Given the description of an element on the screen output the (x, y) to click on. 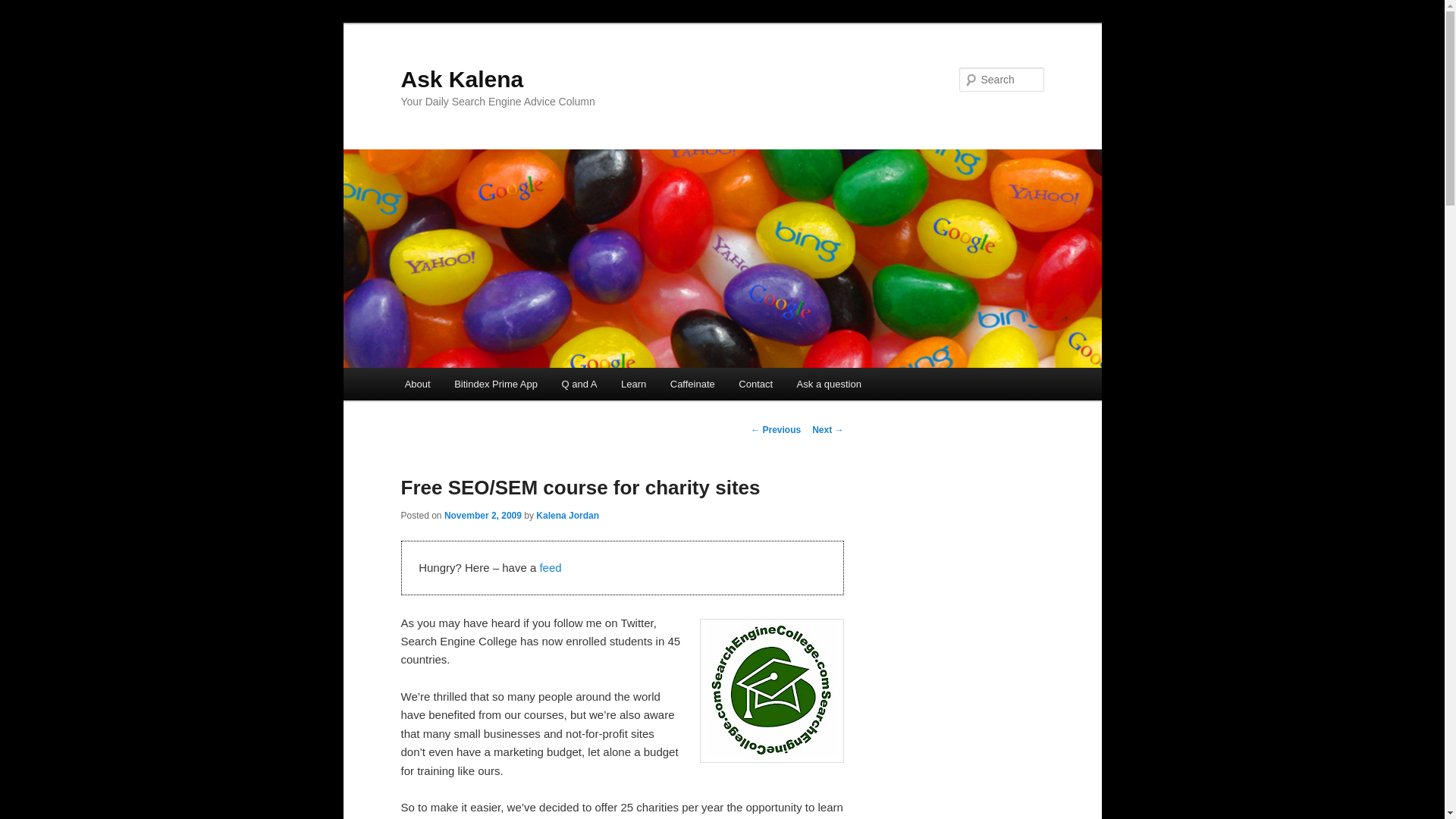
Kalena Jordan (566, 515)
Contact (755, 383)
11:52 pm (482, 515)
Ask a question (828, 383)
Caffeinate (692, 383)
Bitindex Prime App (495, 383)
Q and A (579, 383)
Learn (633, 383)
SEC logo (770, 690)
feed (549, 567)
Ask Kalena (461, 78)
Search (24, 8)
November 2, 2009 (482, 515)
View all posts by Kalena Jordan (566, 515)
